Given the description of an element on the screen output the (x, y) to click on. 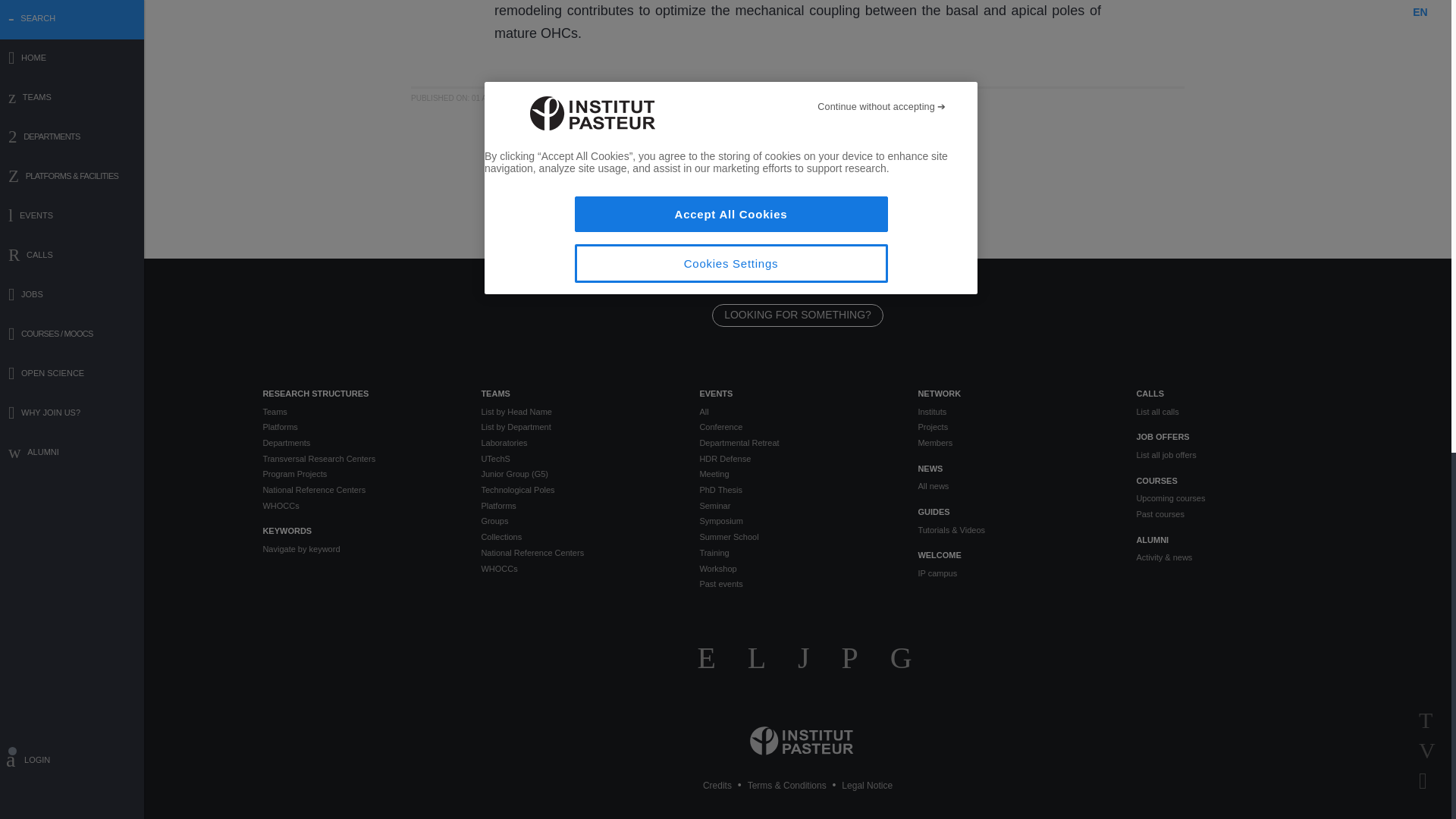
Teams (360, 411)
Platforms (360, 427)
Transversal Research Centers (360, 459)
Departments (360, 442)
